Given the description of an element on the screen output the (x, y) to click on. 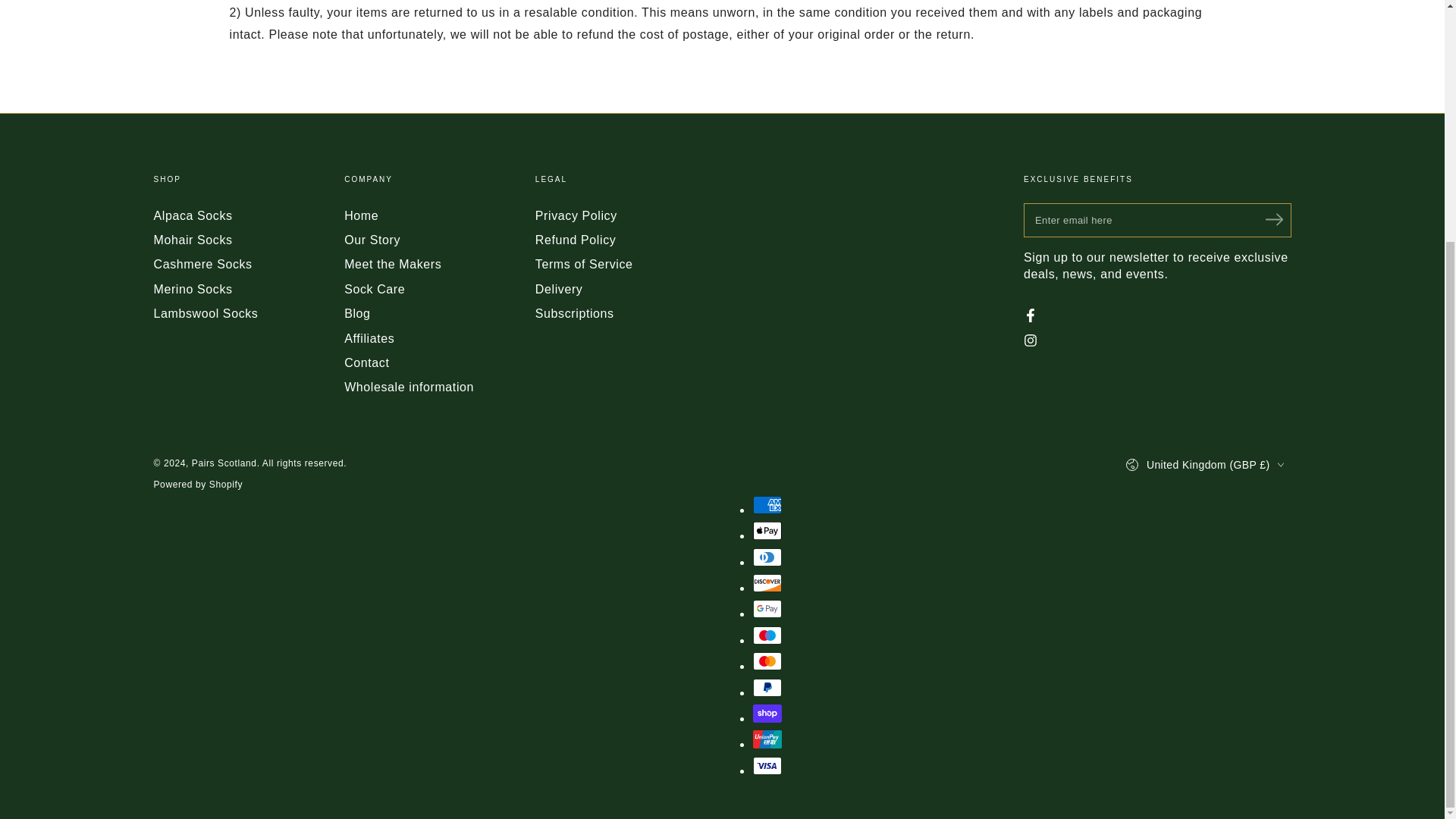
American Express (766, 505)
Apple Pay (766, 530)
Visa (766, 765)
Google Pay (766, 608)
Shop Pay (766, 713)
Mastercard (766, 660)
Discover (766, 583)
Diners Club (766, 556)
PayPal (766, 687)
Maestro (766, 635)
